Given the description of an element on the screen output the (x, y) to click on. 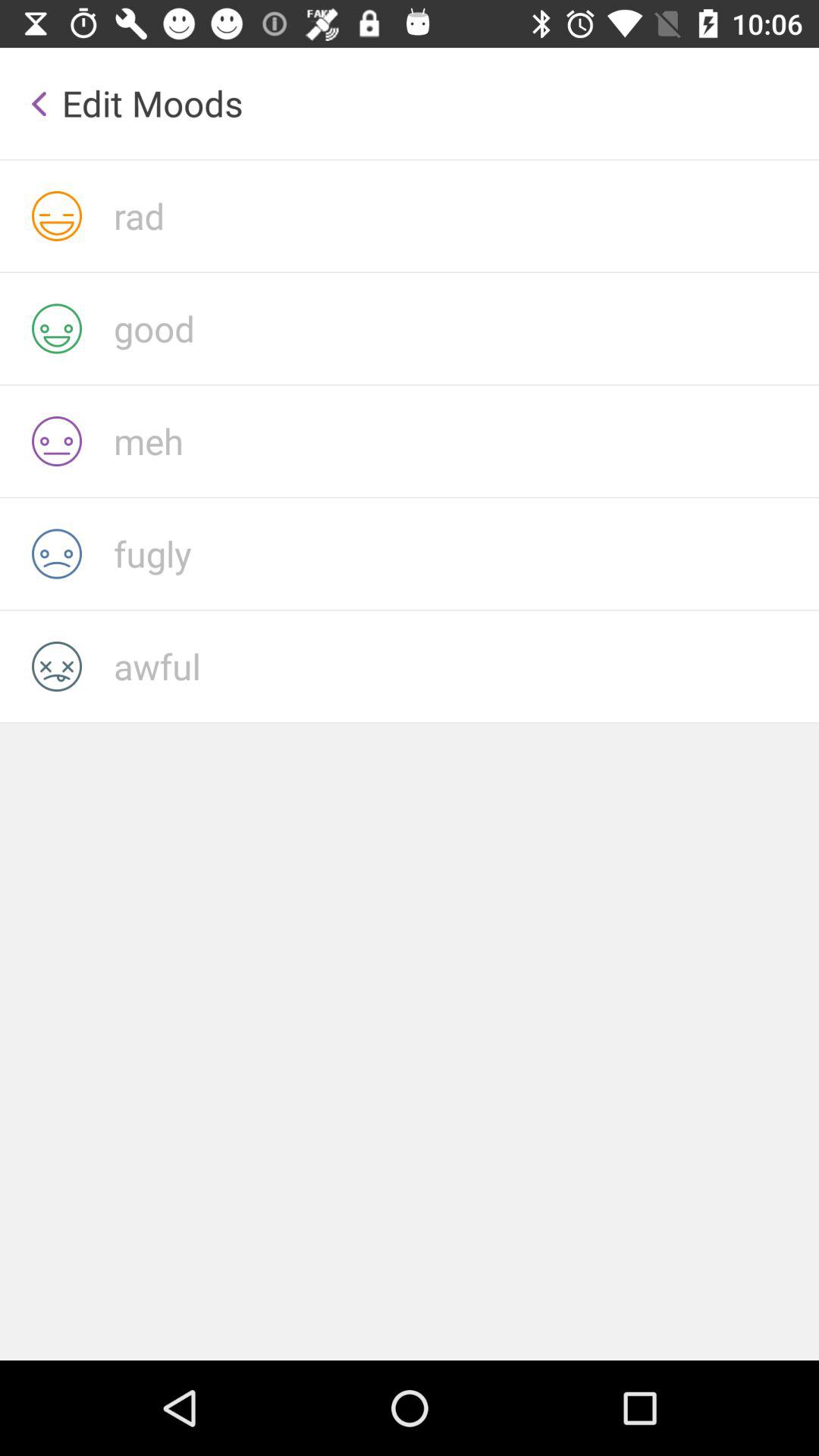
click meh emoji (466, 441)
